Given the description of an element on the screen output the (x, y) to click on. 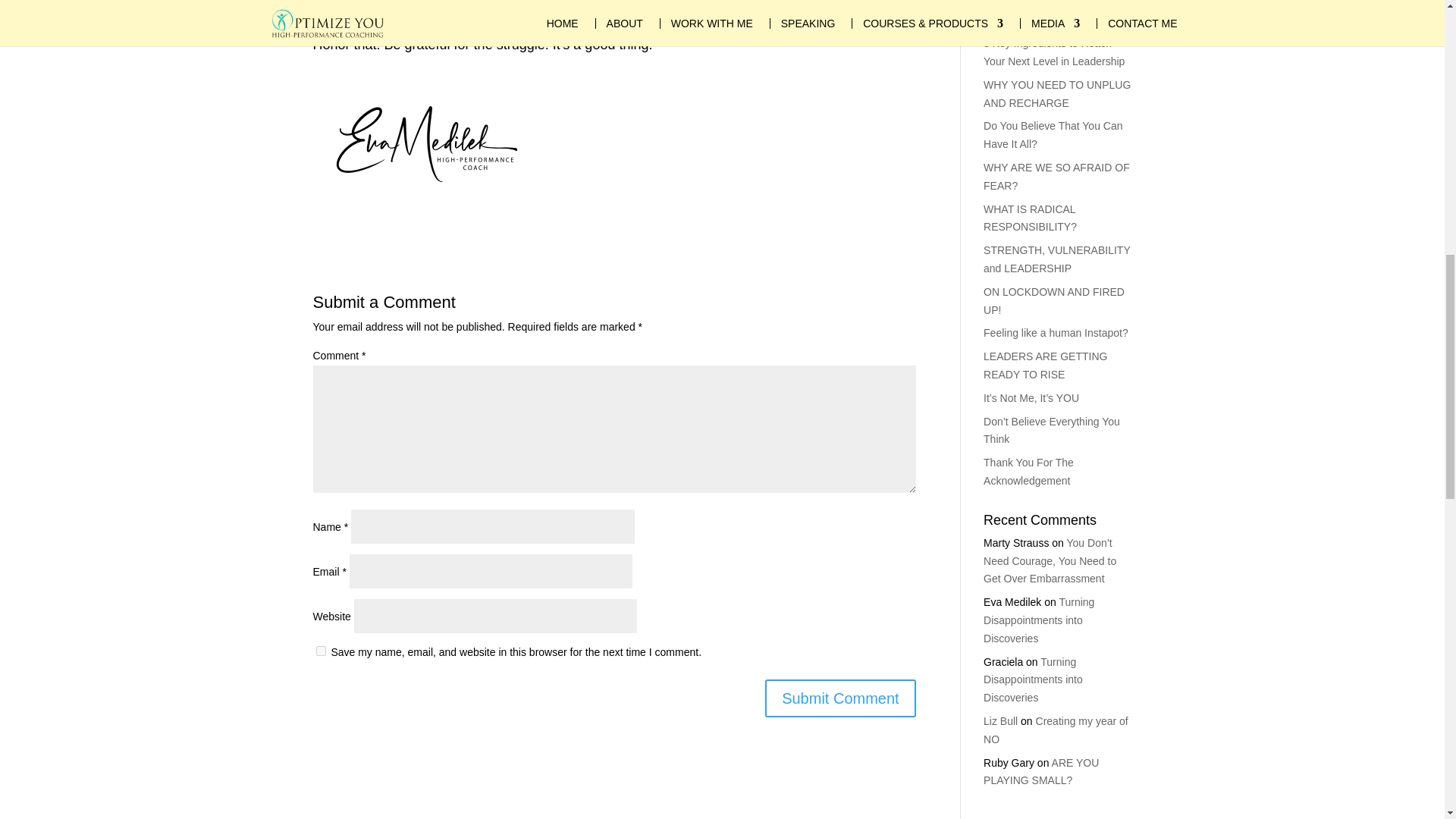
STRENGTH, VULNERABILITY and LEADERSHIP (1056, 259)
Do You Believe That You Can Have It All? (1053, 134)
WHY ARE WE SO AFRAID OF FEAR? (1056, 176)
3 Key Ingredients to Reach Your Next Level in Leadership (1054, 51)
yes (319, 651)
WHY YOU NEED TO UNPLUG AND RECHARGE (1057, 93)
Submit Comment (840, 698)
Submit Comment (840, 698)
WHAT IS RADICAL RESPONSIBILITY? (1030, 218)
